Given the description of an element on the screen output the (x, y) to click on. 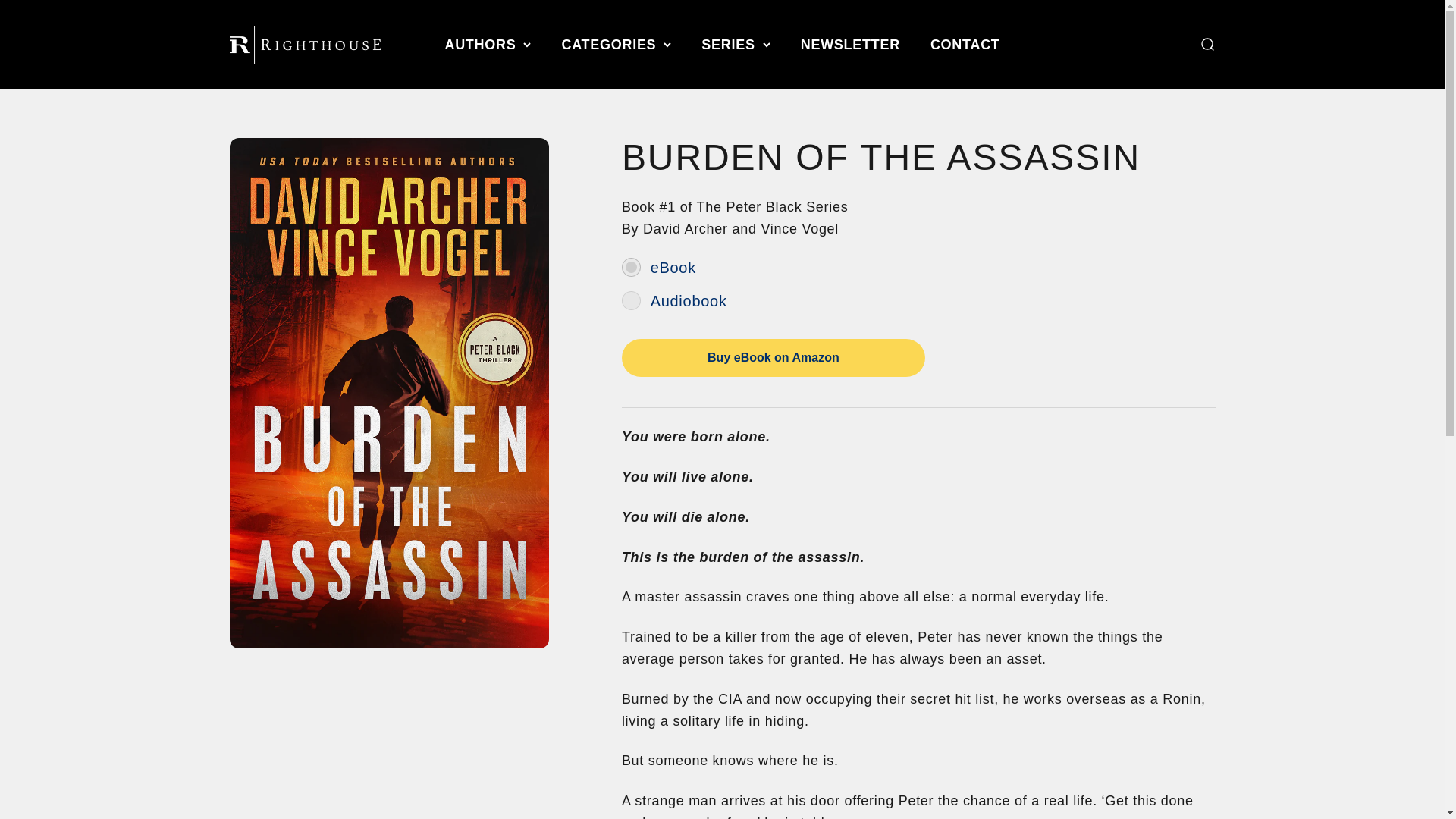
Audiobook (630, 300)
CONTACT (965, 44)
Right House (304, 44)
NEWSLETTER (849, 44)
Open search (1206, 44)
eBook (630, 266)
